Given the description of an element on the screen output the (x, y) to click on. 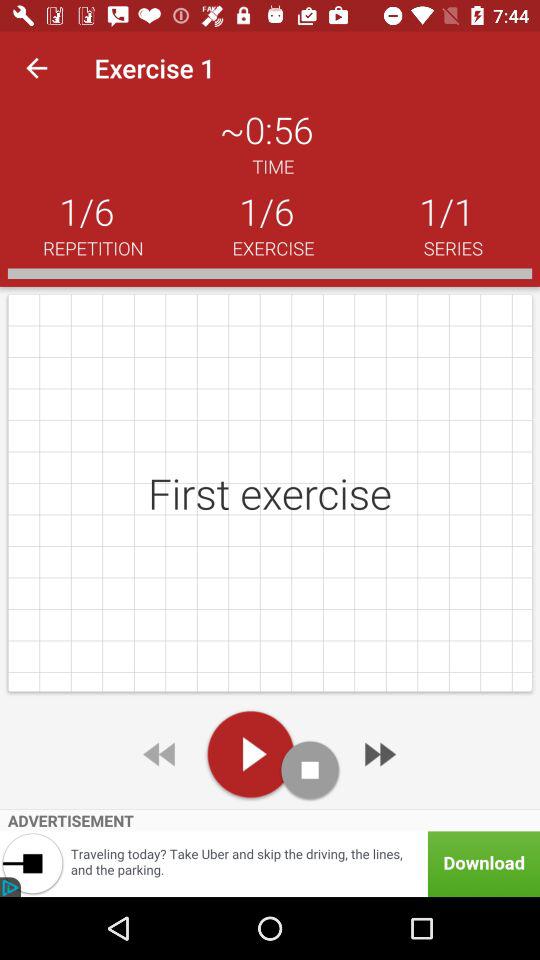
go back (161, 754)
